Given the description of an element on the screen output the (x, y) to click on. 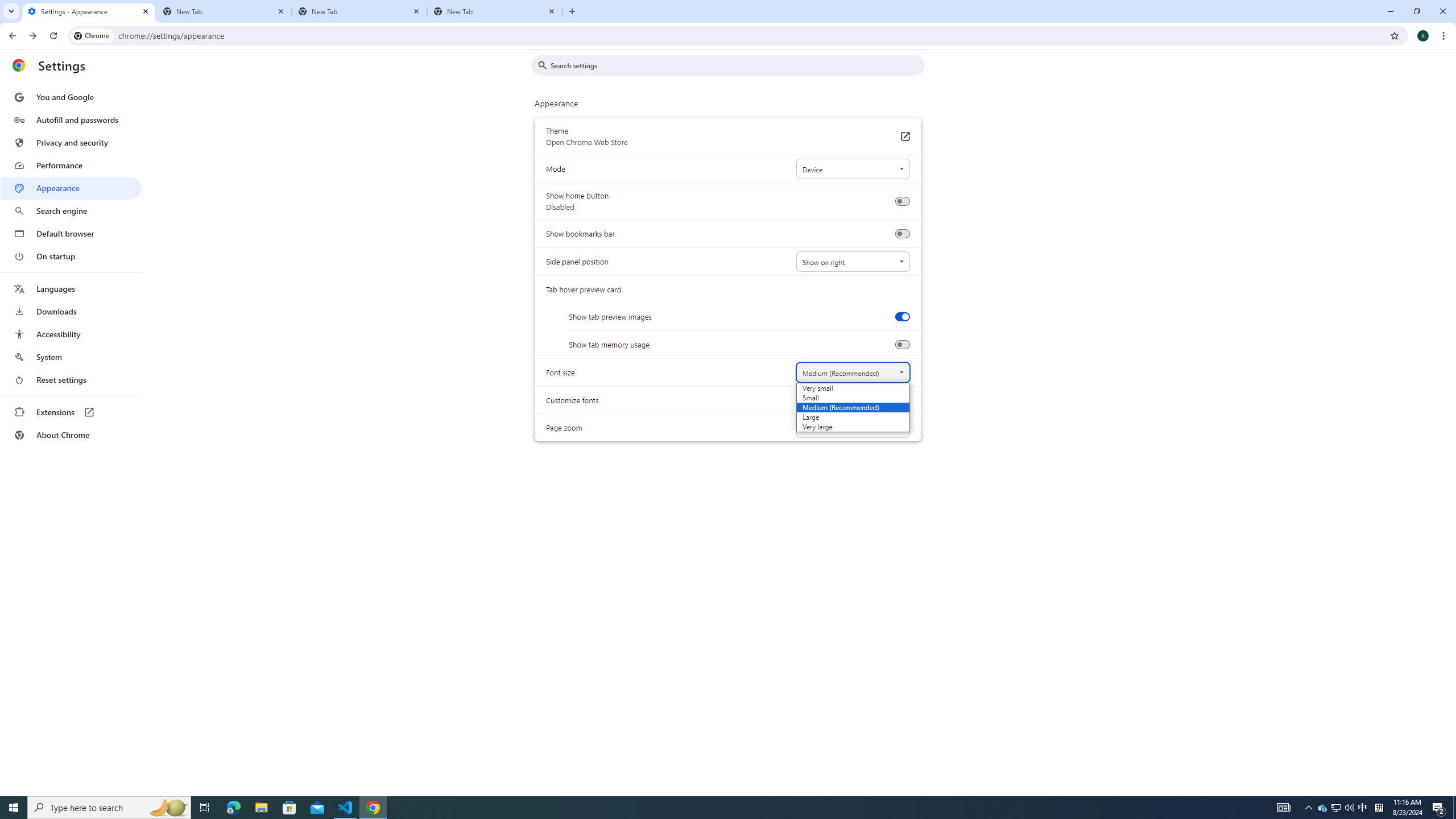
Side panel position (852, 261)
Autofill and passwords (70, 119)
Show tab memory usage (901, 344)
Customize fonts (904, 399)
Large (837, 416)
Very small (837, 388)
Small (837, 397)
Page zoom (852, 427)
AutomationID: menu (71, 265)
Extensions (70, 412)
New Tab (494, 11)
